Given the description of an element on the screen output the (x, y) to click on. 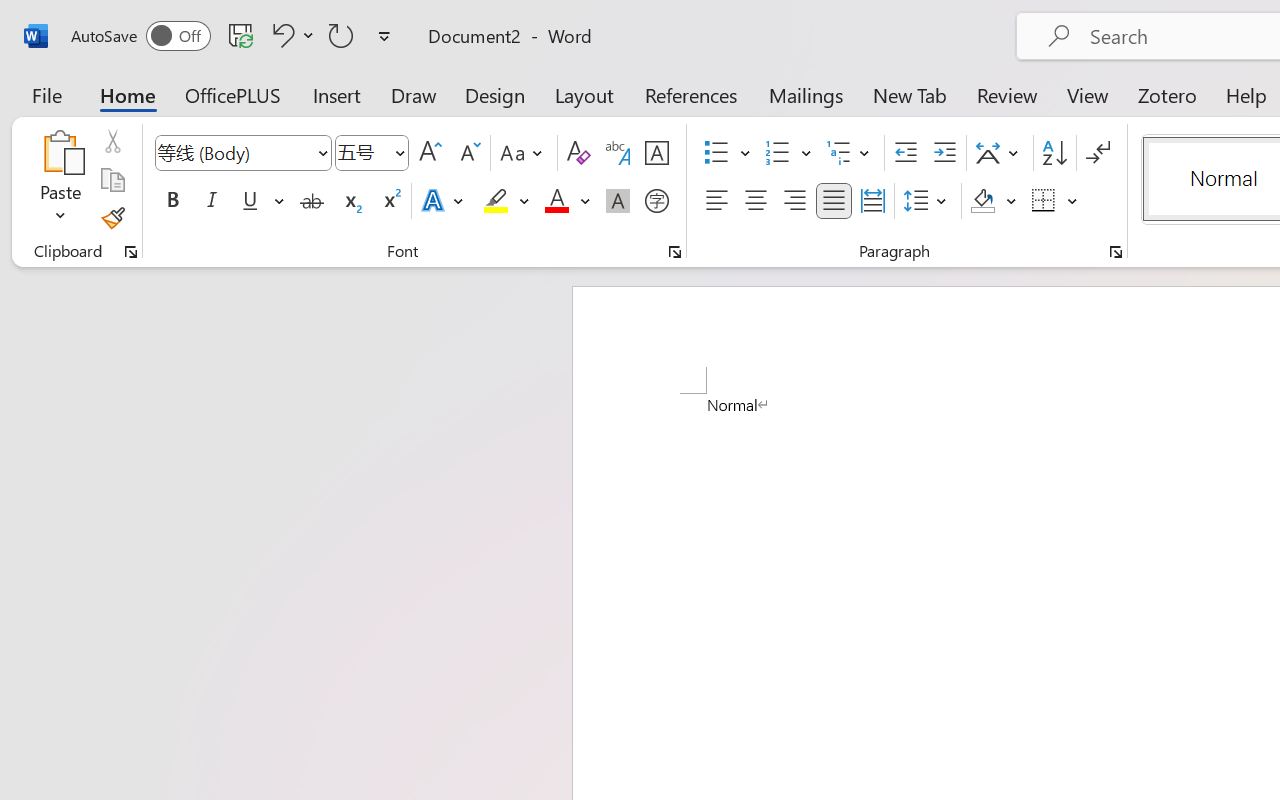
Font (234, 152)
Layout (584, 94)
Enclose Characters... (656, 201)
Repeat Doc Close (341, 35)
Zotero (1166, 94)
Bullets (727, 153)
Customize Quick Access Toolbar (384, 35)
Borders (1044, 201)
File Tab (46, 94)
Bold (172, 201)
Text Highlight Color Yellow (495, 201)
Clear Formatting (578, 153)
Insert (337, 94)
Numbering (788, 153)
Center (756, 201)
